Given the description of an element on the screen output the (x, y) to click on. 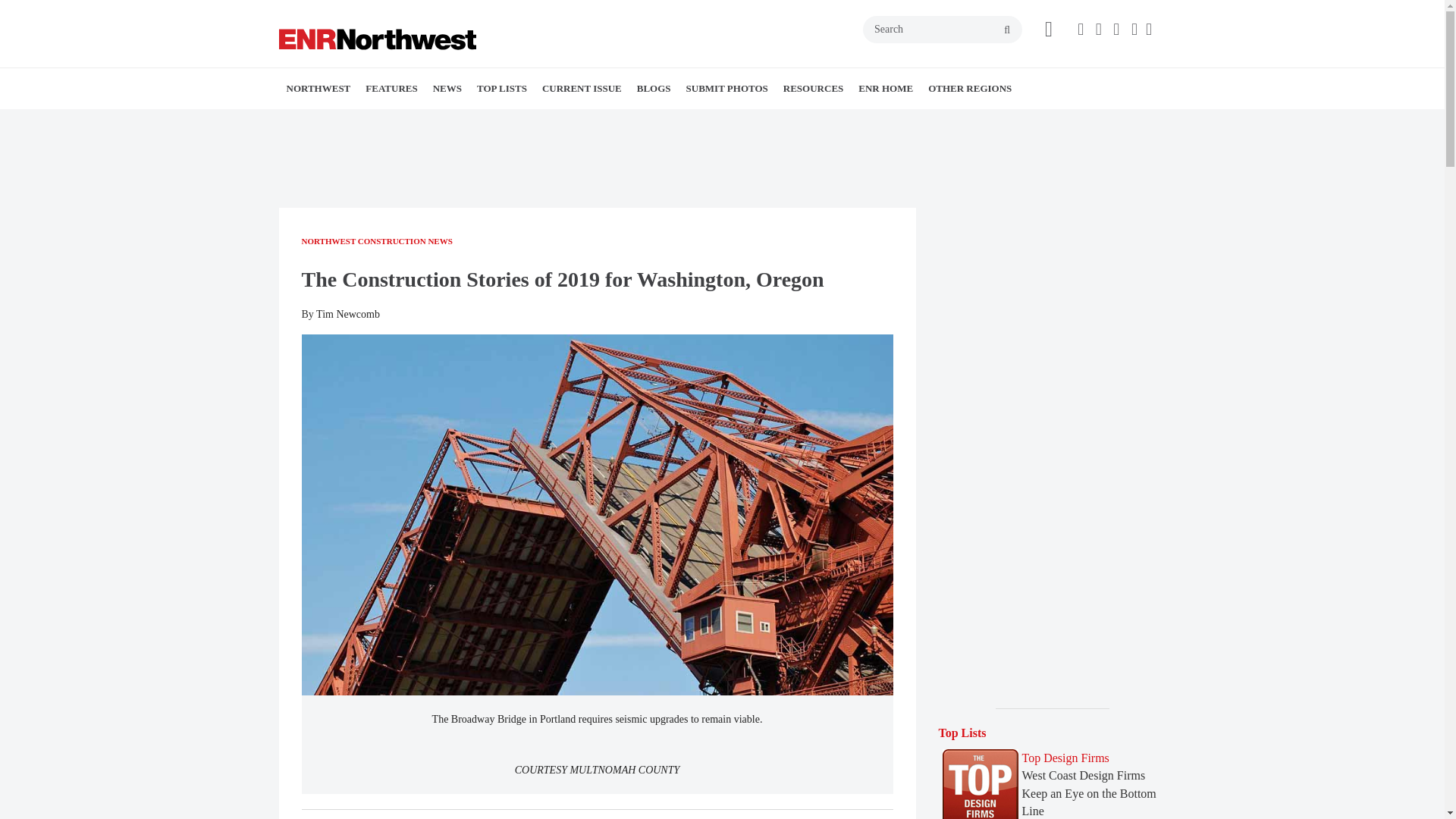
REPRINTS AND PLAQUES (900, 121)
NEWS (446, 87)
TOP LISTS (501, 87)
CURRENT ISSUE (581, 87)
PEOPLE (772, 121)
COMPANIES (459, 121)
EVENTS (785, 121)
RESOURCES (813, 87)
SUBSCRIBE (883, 121)
NORTHWEST (318, 87)
ENR HOME (885, 87)
PROJECTS (452, 121)
Search (942, 29)
ADVERTISE (897, 121)
INDUSTRY JOBS (877, 121)
